Given the description of an element on the screen output the (x, y) to click on. 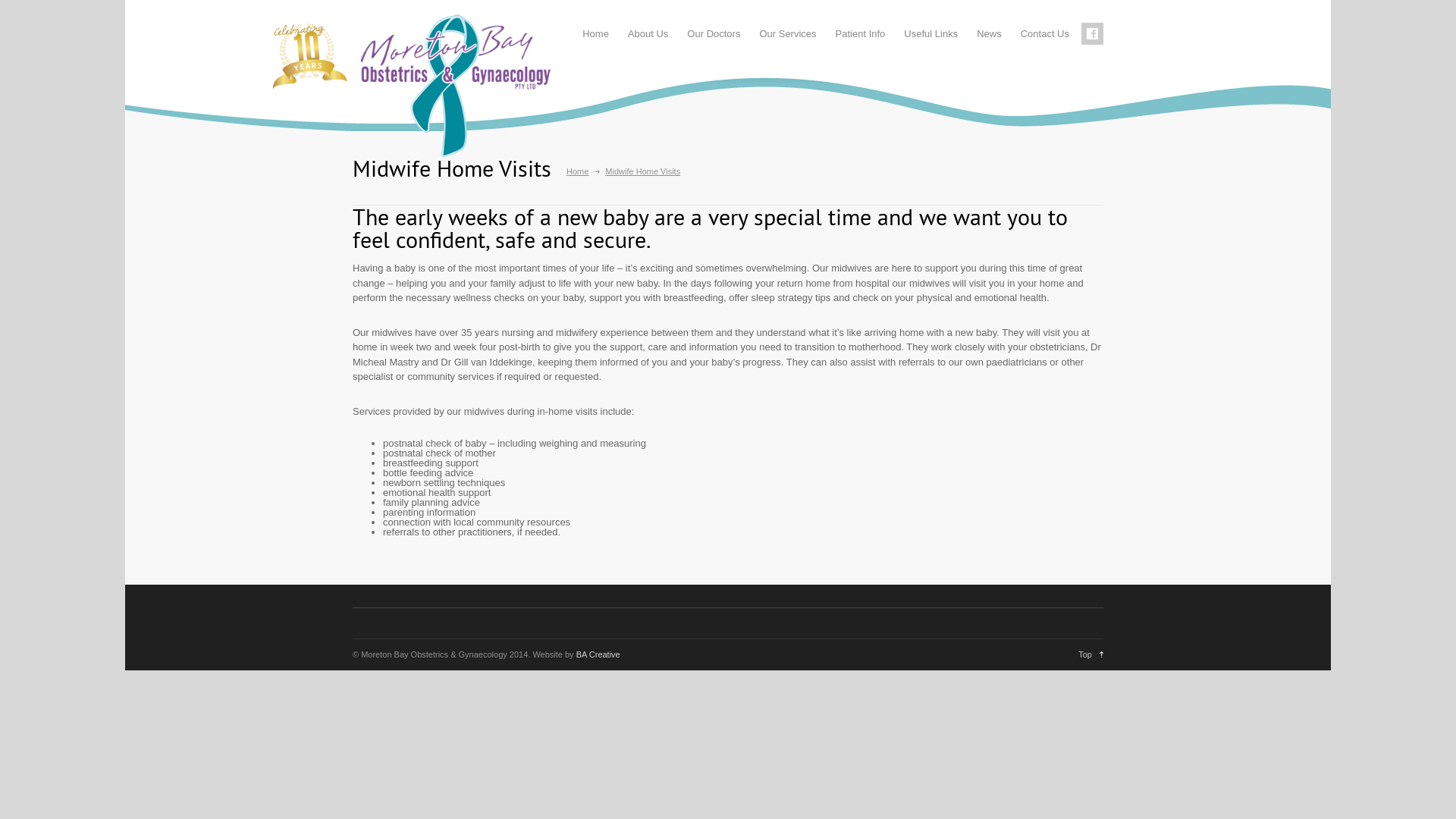
Our Services Element type: text (787, 33)
News Element type: text (989, 33)
Top Element type: text (1090, 653)
Congratulations 10 Years Element type: hover (306, 55)
Home Element type: text (595, 33)
Patient Info Element type: text (860, 33)
Facebook Element type: hover (1092, 33)
Our Doctors Element type: text (713, 33)
About Us Element type: text (647, 33)
BA Creative Element type: text (598, 653)
Home Element type: text (577, 170)
Useful Links Element type: text (930, 33)
Contact Us Element type: text (1044, 33)
